Given the description of an element on the screen output the (x, y) to click on. 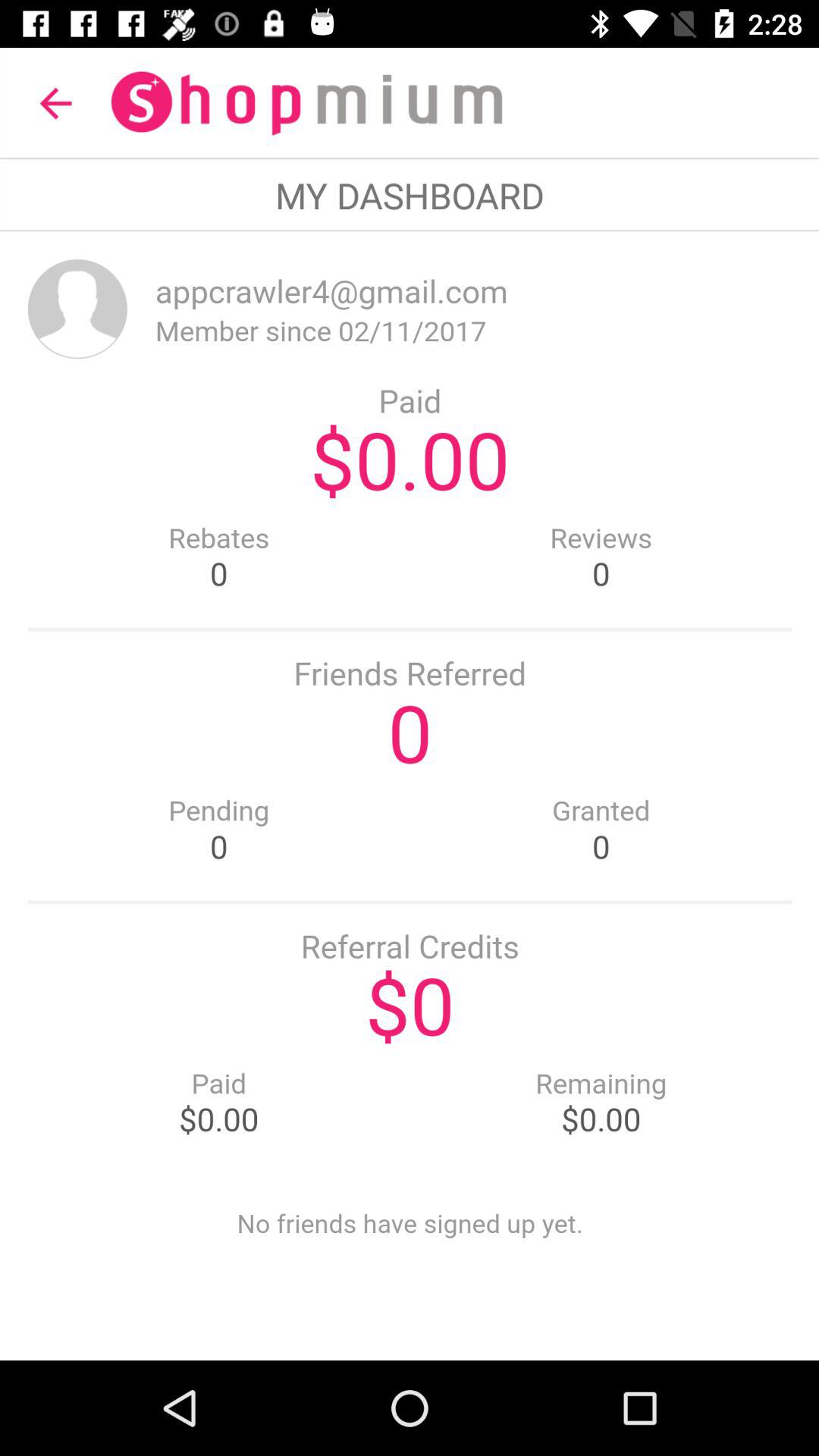
account summary dashboard (409, 795)
